Given the description of an element on the screen output the (x, y) to click on. 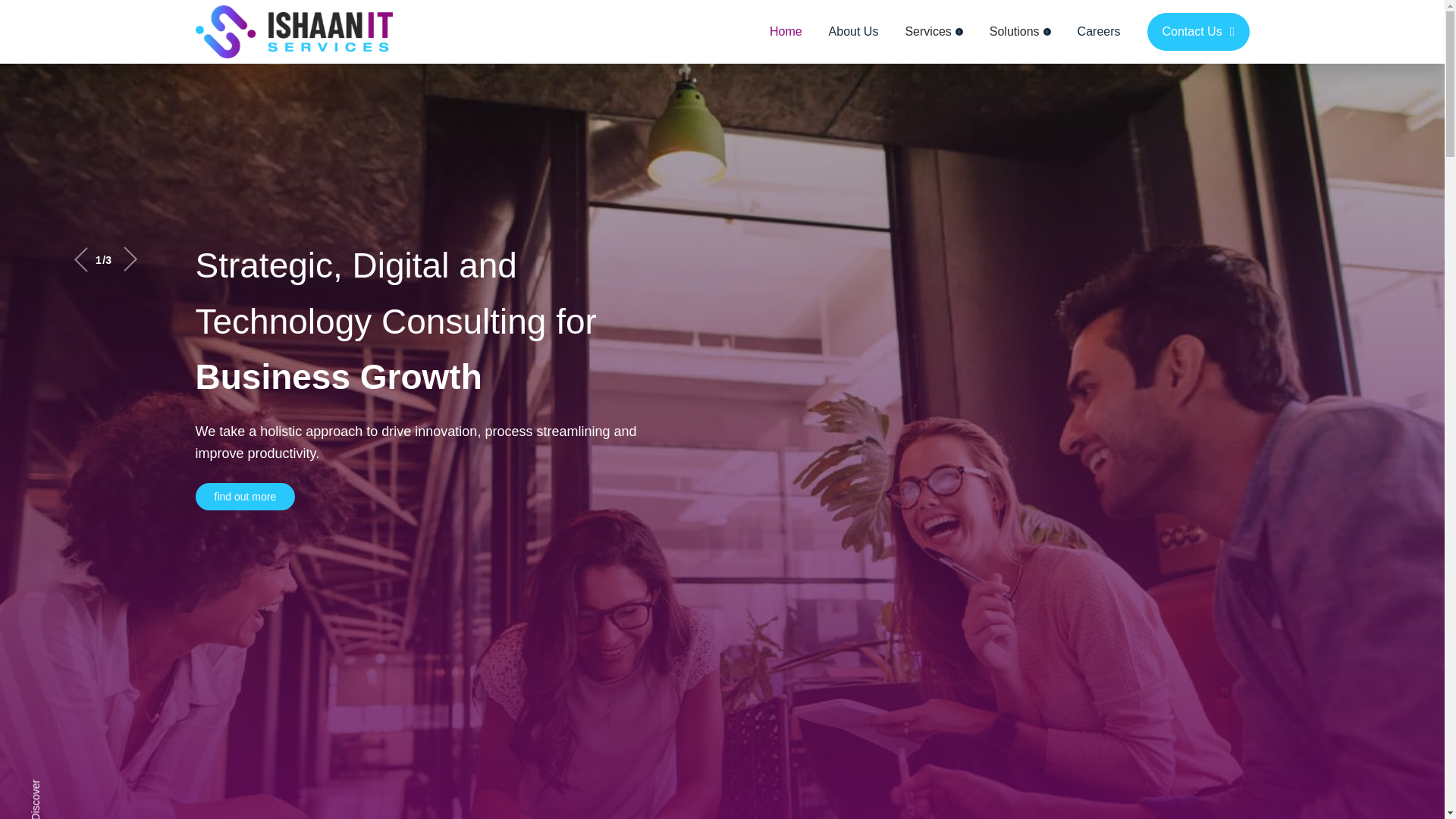
Solutions (1020, 31)
Contact Us (1198, 31)
Ishaan IT  (294, 31)
Careers (1099, 31)
Services (933, 31)
About Us (853, 31)
Discover (63, 805)
